Given the description of an element on the screen output the (x, y) to click on. 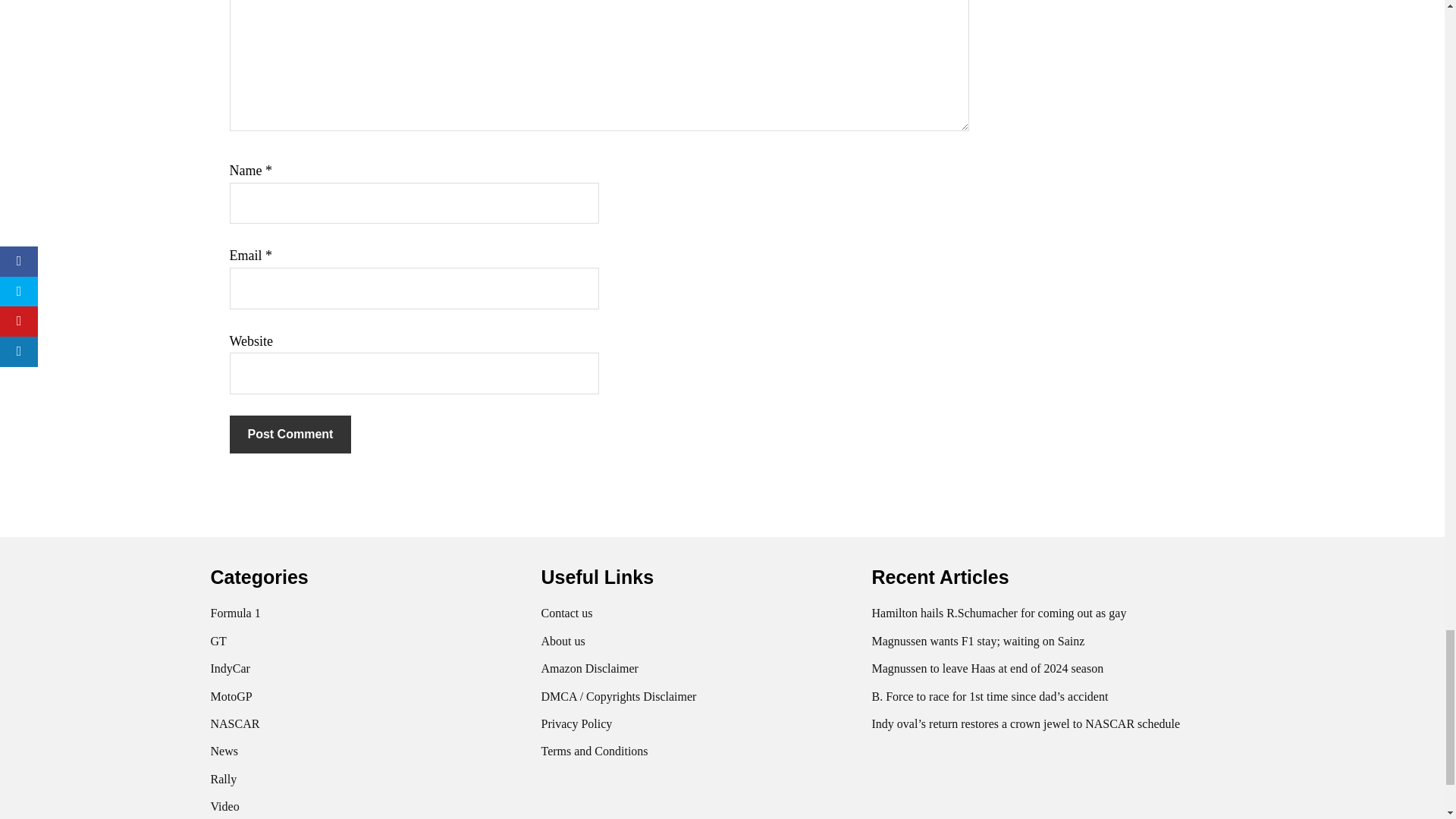
Post Comment (289, 434)
